Given the description of an element on the screen output the (x, y) to click on. 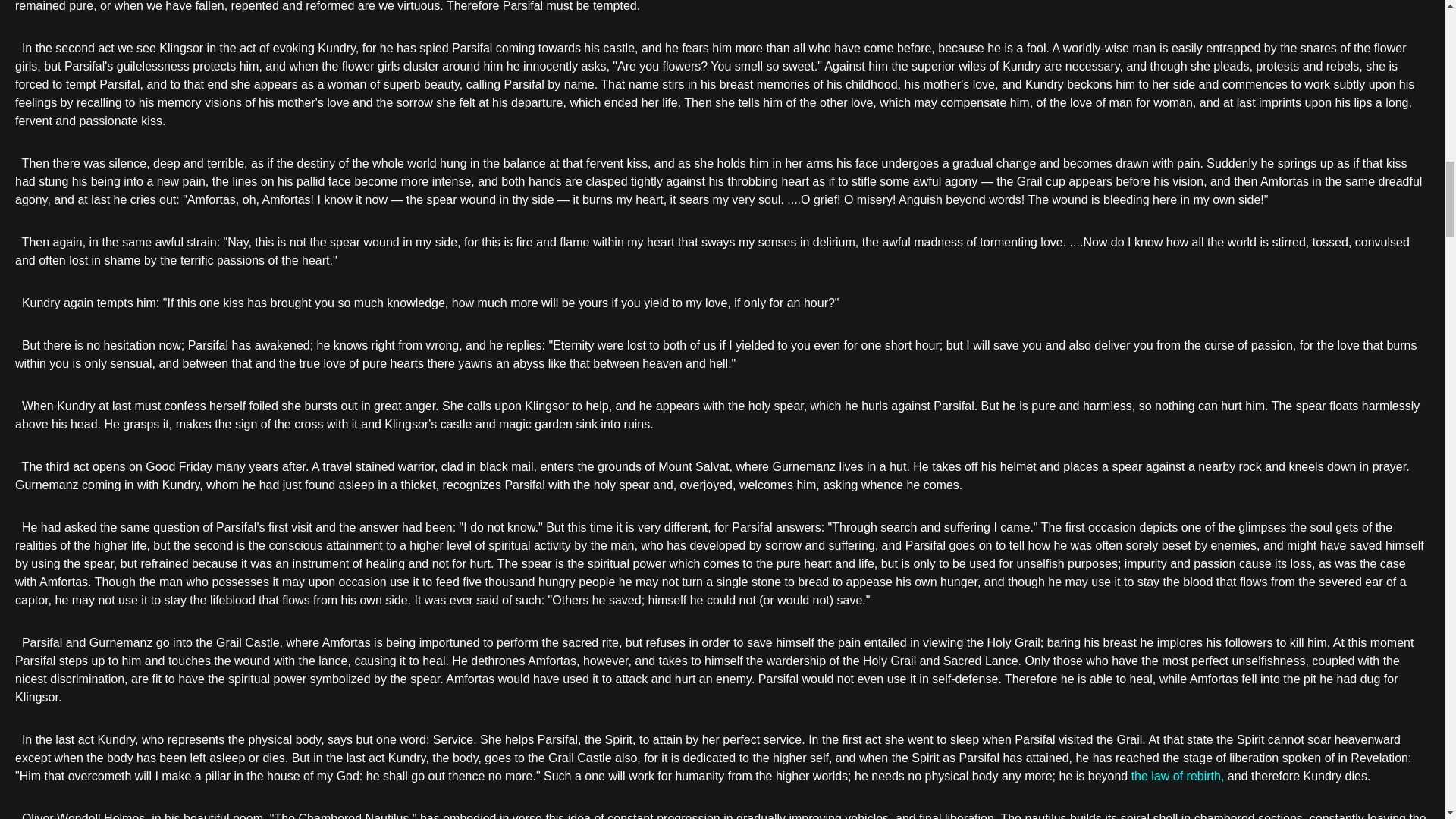
the law of rebirth, (1177, 775)
